Given the description of an element on the screen output the (x, y) to click on. 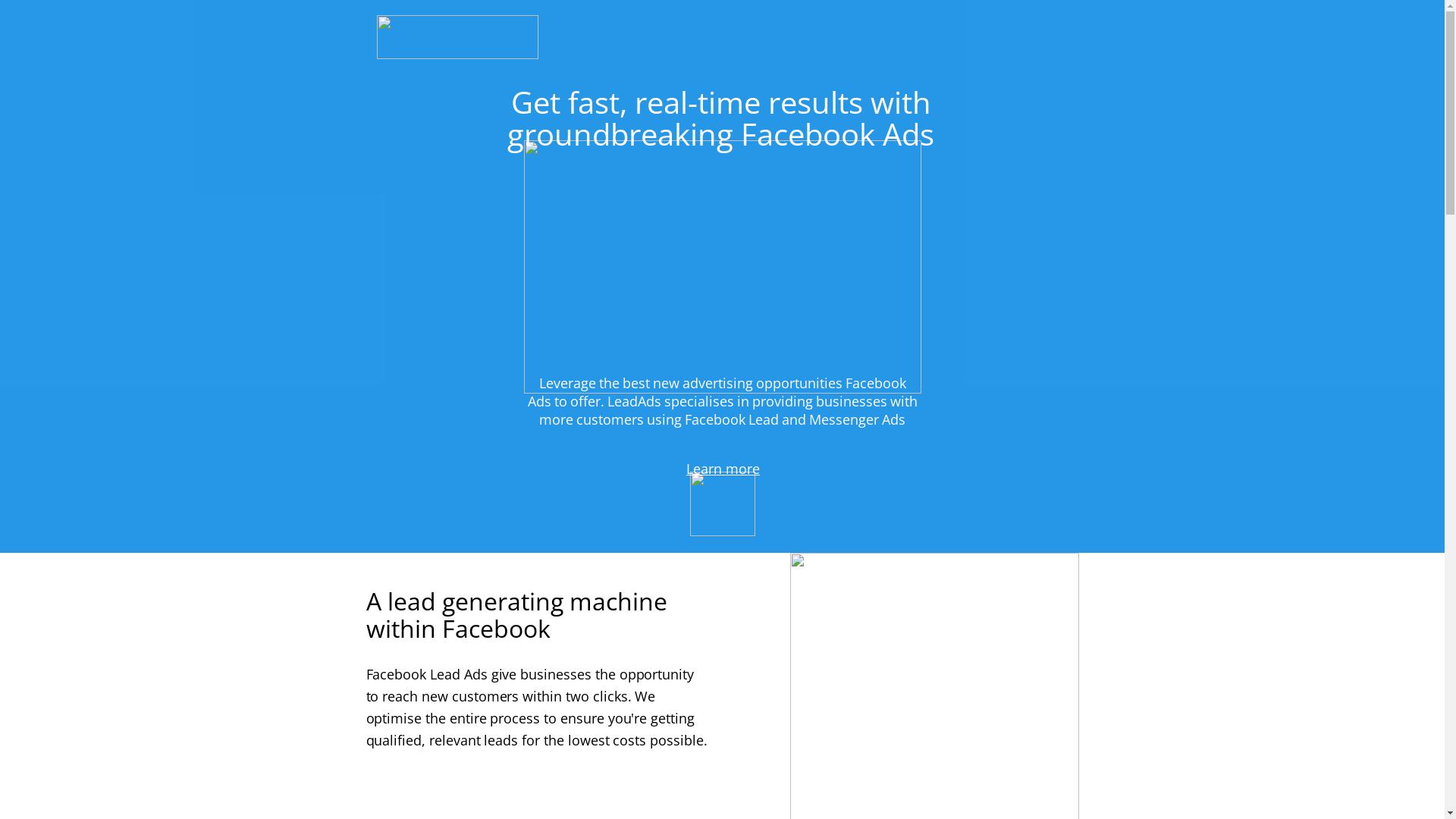
Learn more Element type: text (722, 470)
